Given the description of an element on the screen output the (x, y) to click on. 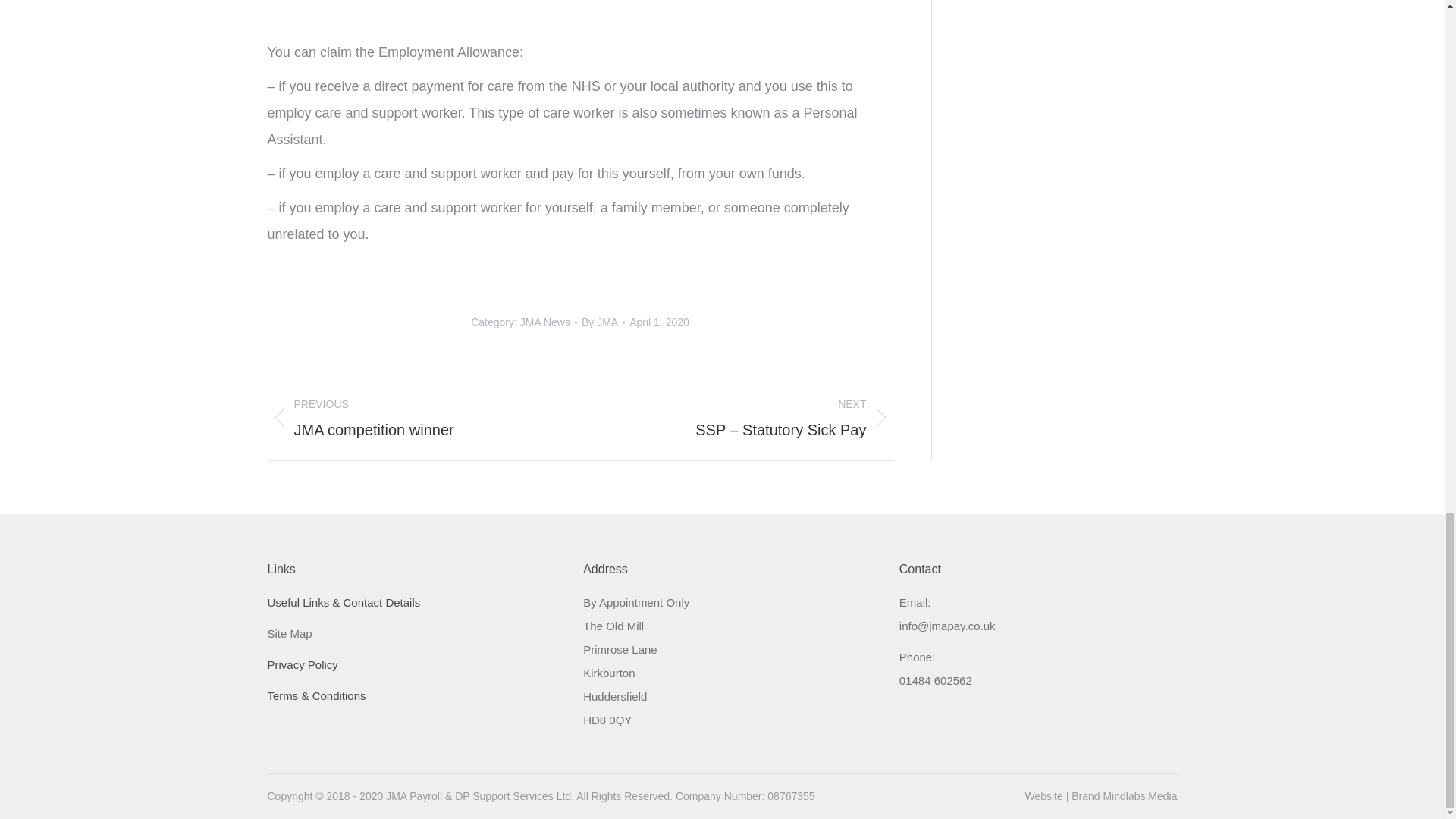
By JMA (602, 322)
Privacy Policy (411, 416)
11:04 am (301, 663)
JMA News (658, 322)
View all posts by JMA (544, 322)
April 1, 2020 (602, 322)
